Given the description of an element on the screen output the (x, y) to click on. 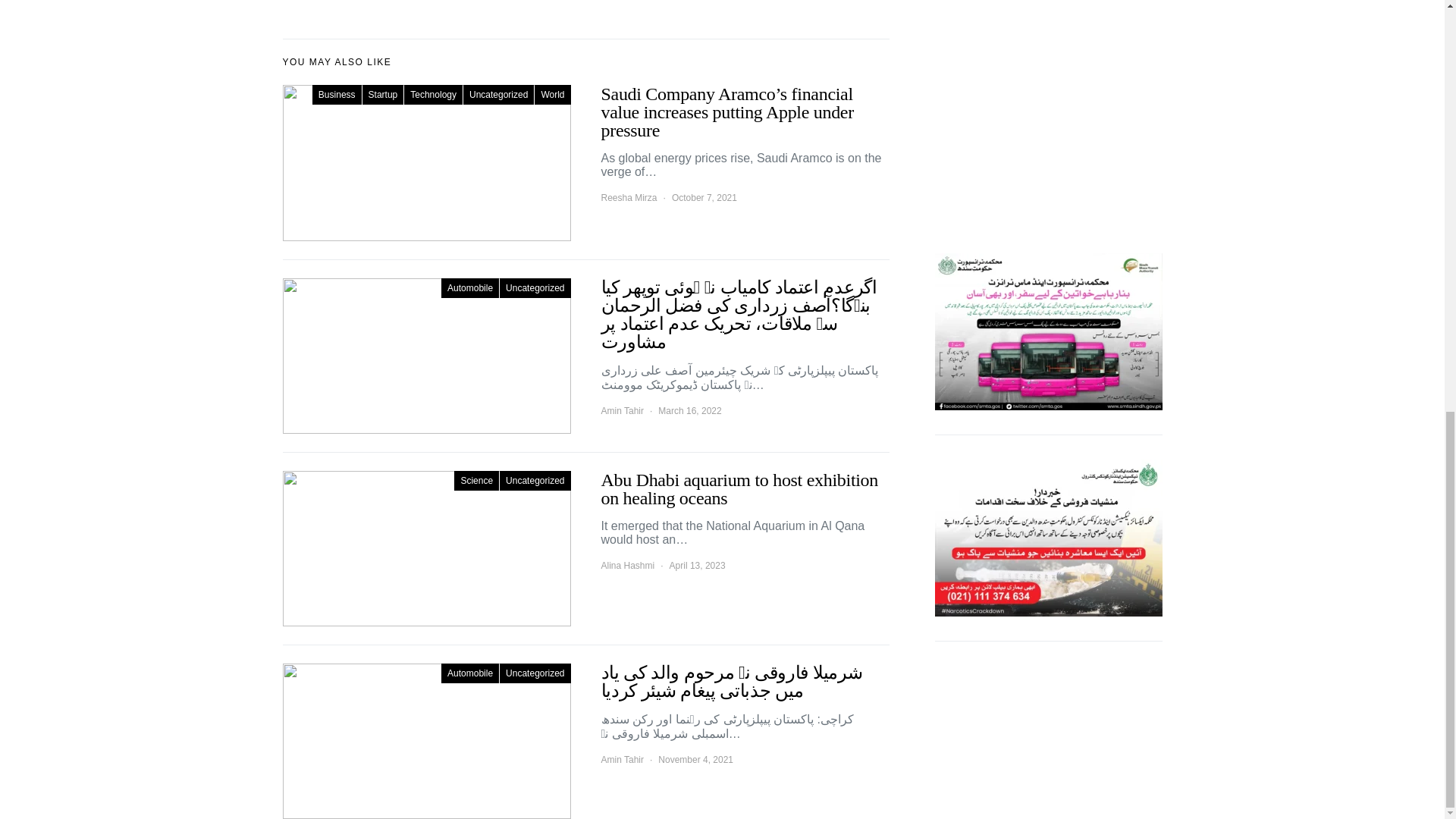
View all posts by Amin Tahir (621, 410)
View all posts by Reesha Mirza (627, 197)
Anwar Maqsood (1047, 22)
View all posts by Amin Tahir (621, 759)
View all posts by Alina Hashmi (626, 565)
